Given the description of an element on the screen output the (x, y) to click on. 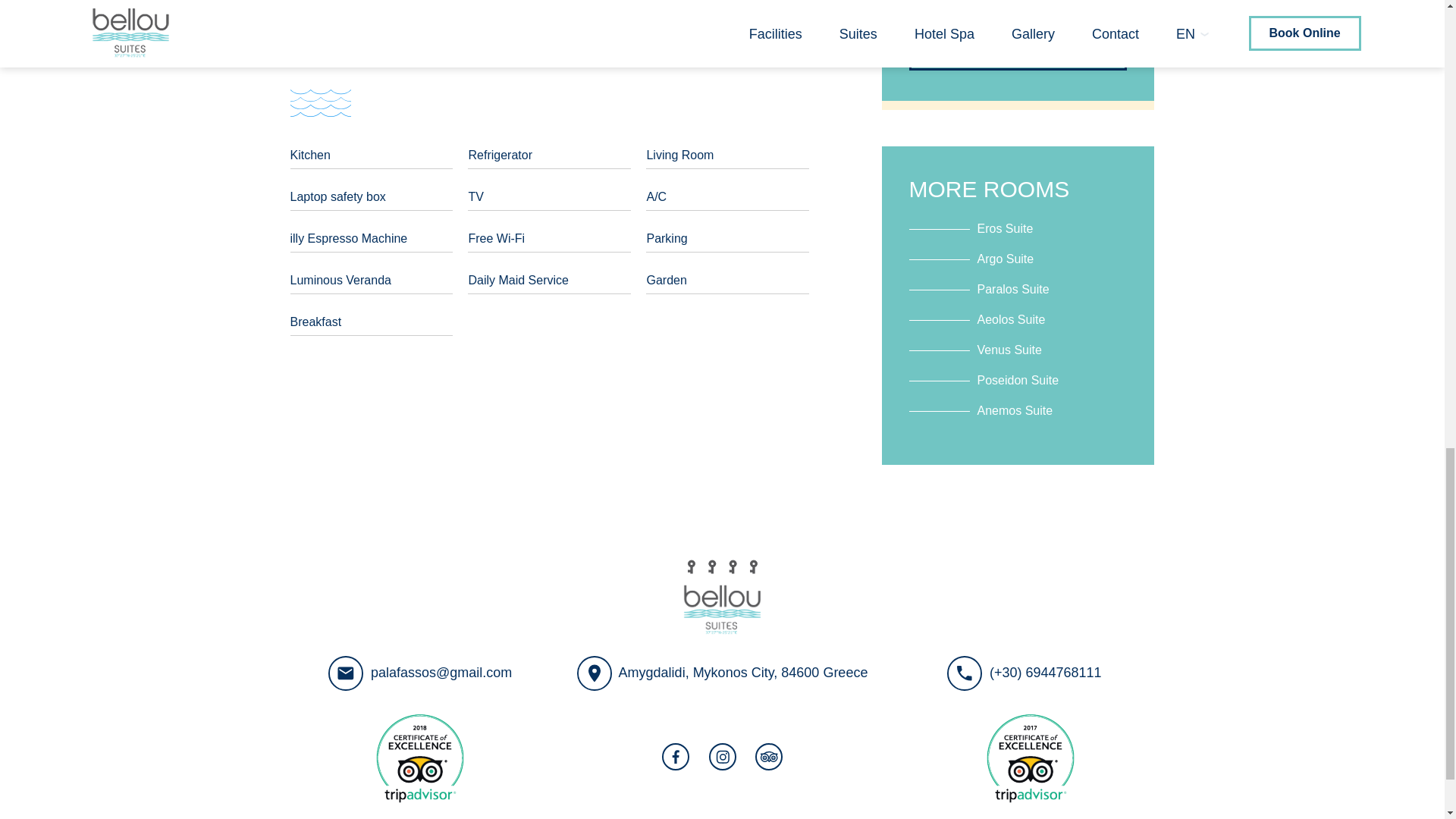
Send a Request (1017, 47)
Aeolos Suite (976, 317)
Eros Suite (970, 226)
Venus Suite (974, 347)
Argo Suite (970, 256)
Paralos Suite (978, 286)
Anemos Suite (980, 408)
Poseidon Suite (983, 378)
